Given the description of an element on the screen output the (x, y) to click on. 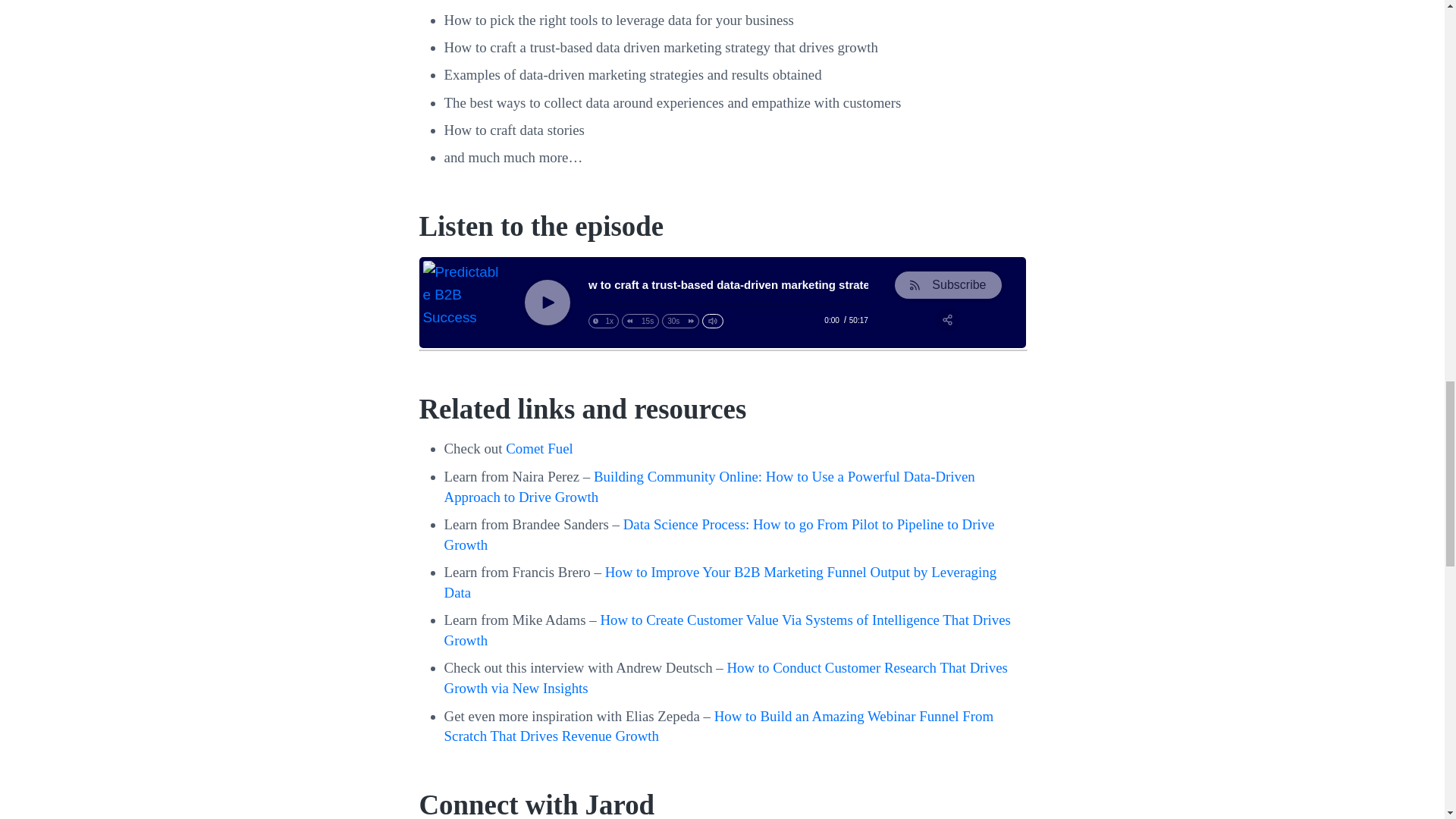
30s (680, 320)
Play (546, 302)
Subscribe (948, 284)
15s (640, 320)
1x (604, 320)
